Given the description of an element on the screen output the (x, y) to click on. 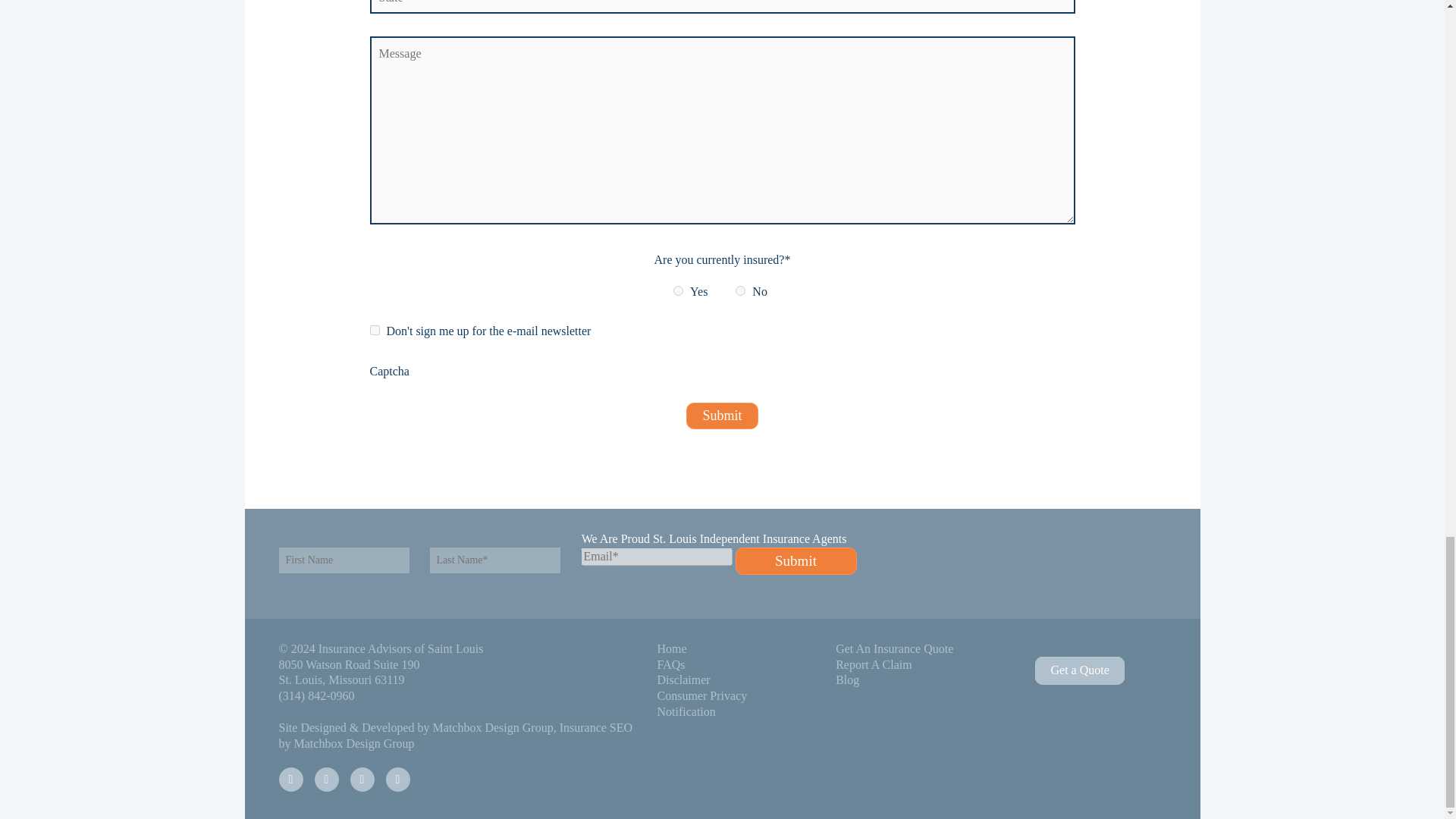
Submit (721, 415)
No (740, 290)
Yes (677, 290)
Submit (796, 560)
Don't sign me up for the e-mail newsletter (374, 329)
